Given the description of an element on the screen output the (x, y) to click on. 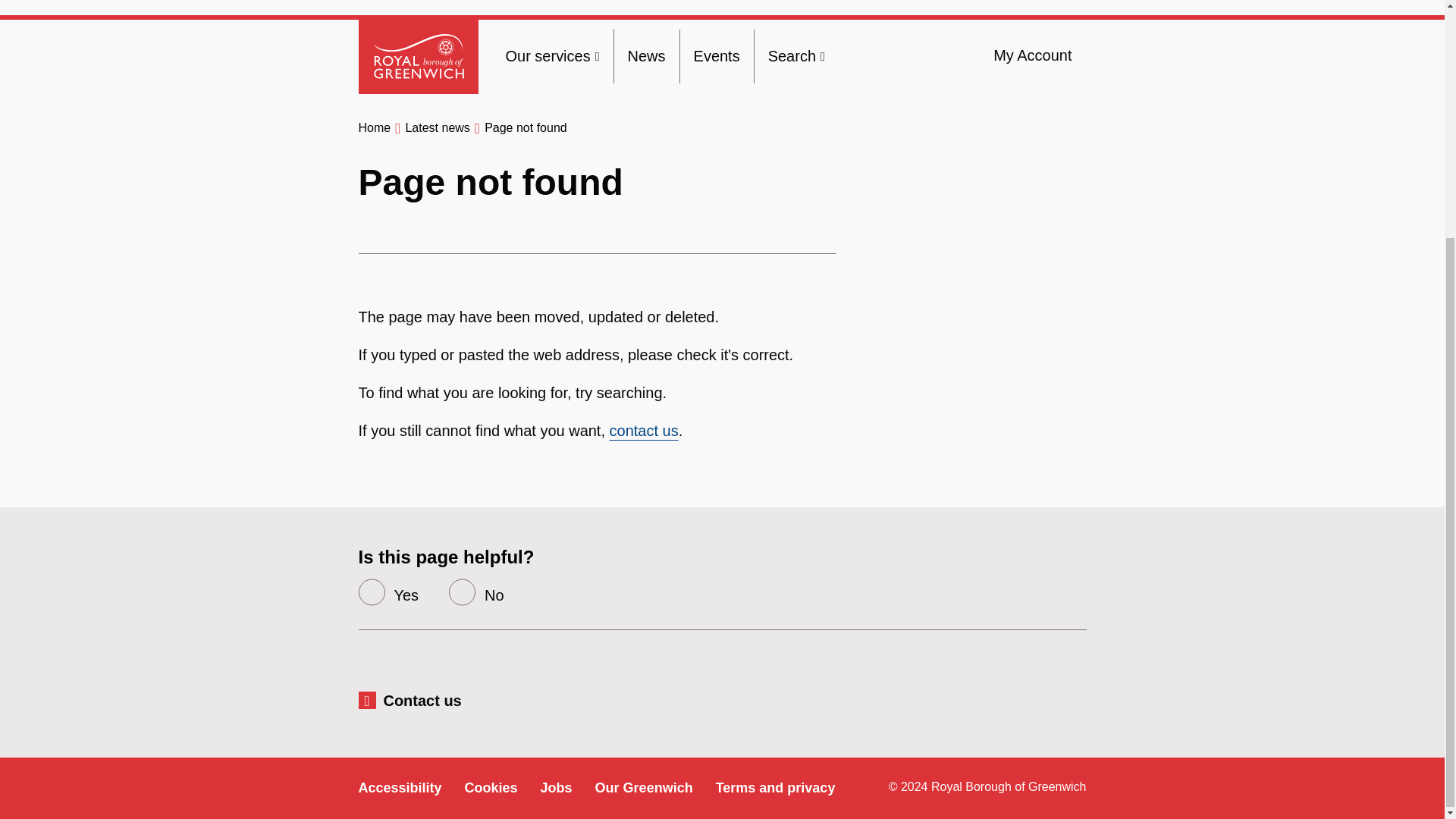
Accessibility (399, 787)
News (646, 56)
Royal Greenwich Instagram page. (1071, 699)
Jobs (556, 787)
yes (371, 591)
My Account (1031, 55)
Search (796, 55)
Events (716, 56)
Royal Greenwich Facebook page. (969, 699)
Home (374, 128)
